Given the description of an element on the screen output the (x, y) to click on. 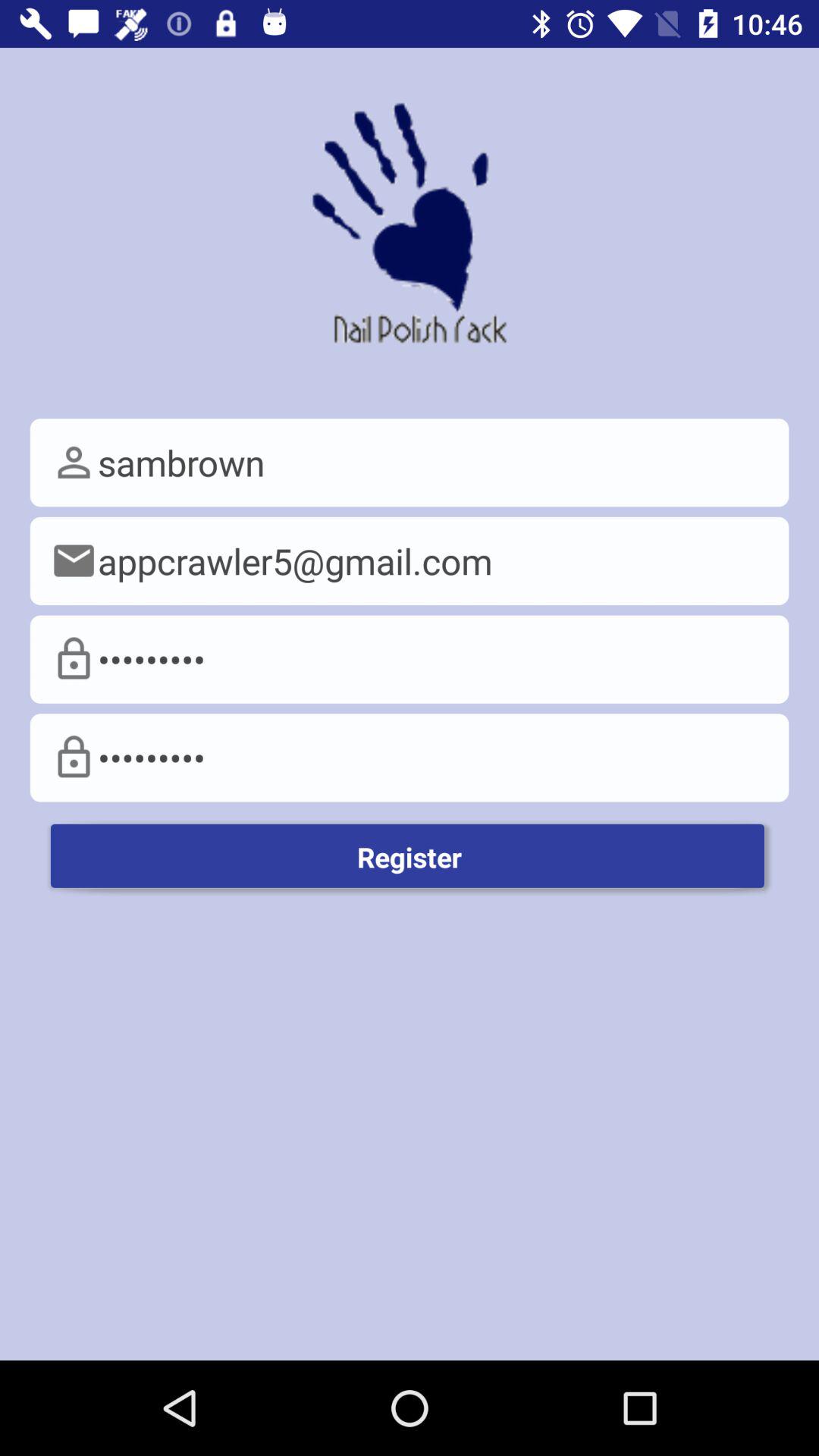
launch the item above the appcrawler5@gmail.com icon (409, 462)
